Given the description of an element on the screen output the (x, y) to click on. 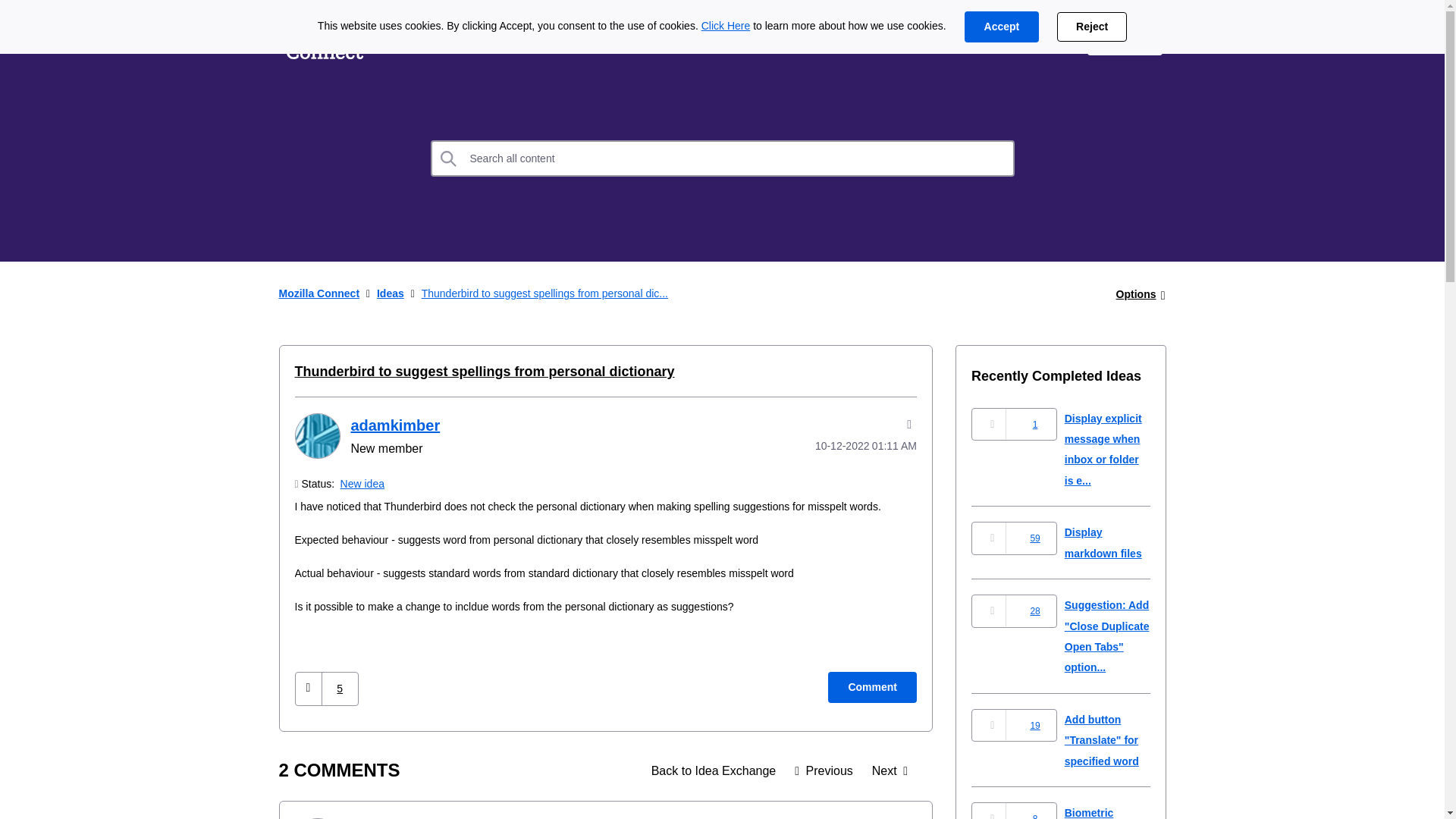
Search (448, 158)
erichalfb (316, 818)
Ideas (411, 39)
adamkimber (394, 425)
Show option menu (1136, 294)
Previous (823, 770)
5 (339, 689)
New idea (362, 483)
Search (722, 158)
Mozilla Connect (324, 39)
Support (1040, 39)
Back to Idea Exchange (714, 770)
adamkimber (316, 435)
Options (1136, 294)
